Given the description of an element on the screen output the (x, y) to click on. 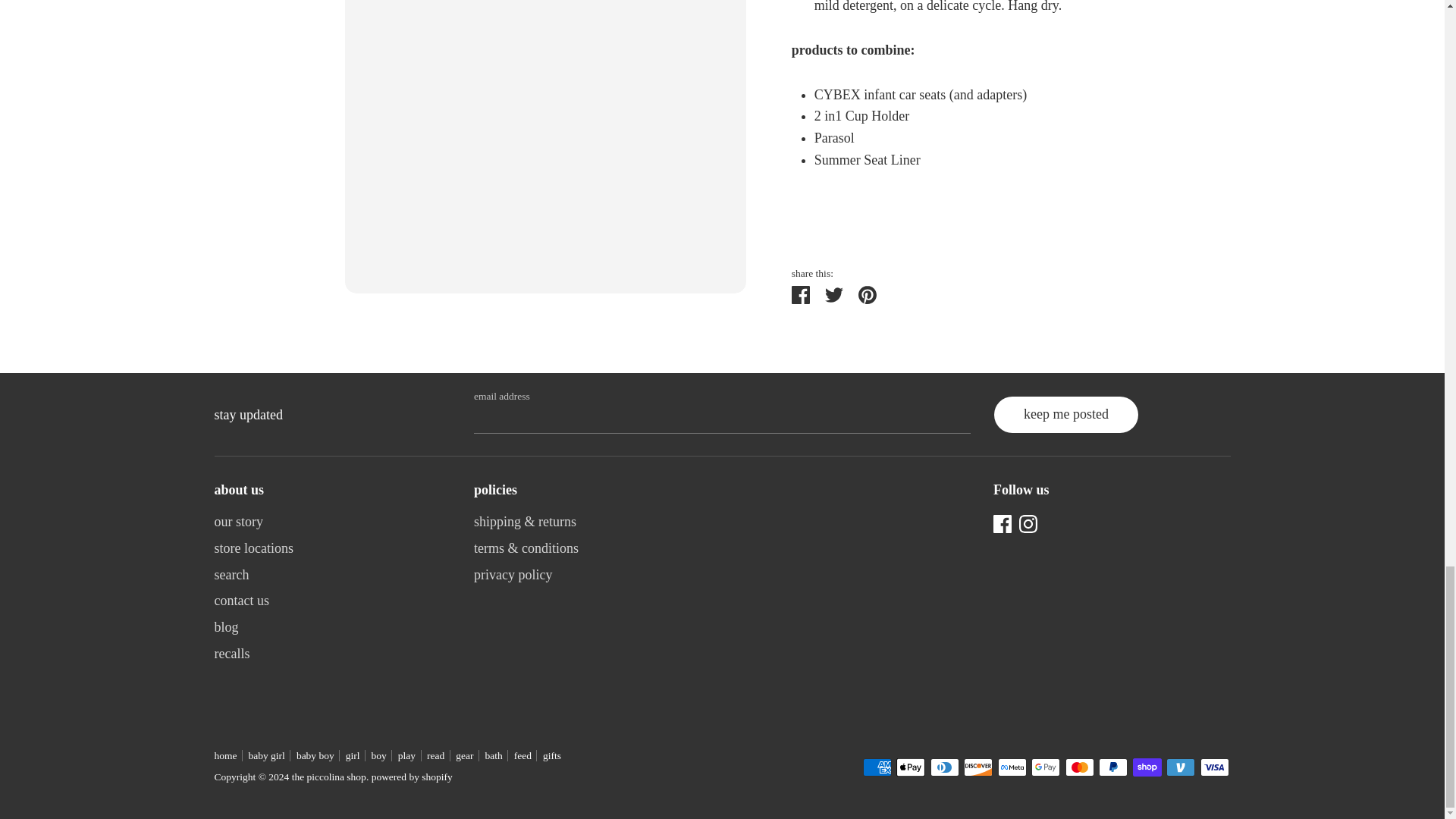
American Express (877, 767)
Instagram (1027, 522)
Facebook (1001, 522)
Apple Pay (910, 767)
